Given the description of an element on the screen output the (x, y) to click on. 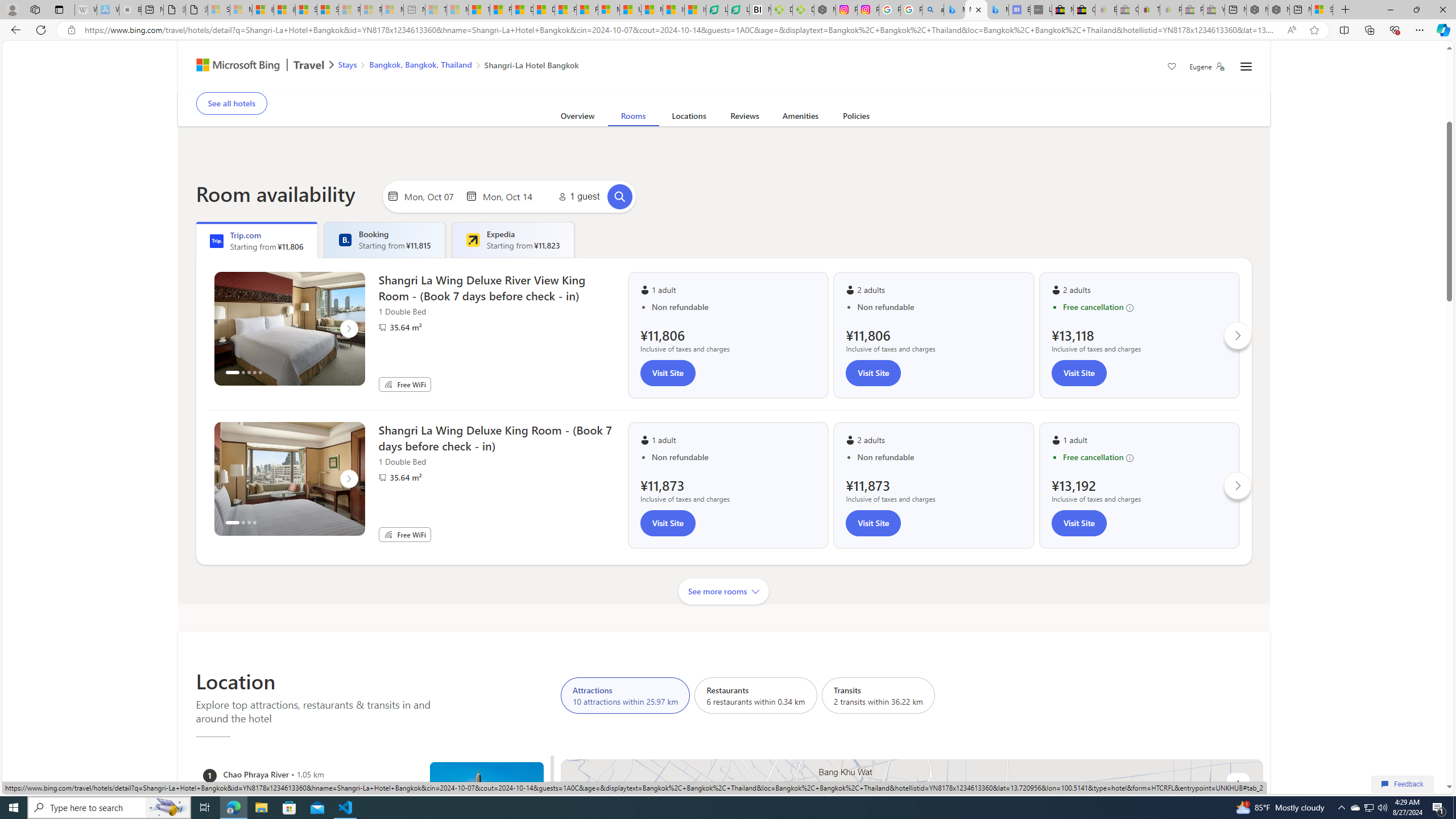
Top Stories - MSN - Sleeping (435, 9)
See more rooms (724, 591)
Travel (308, 65)
Attractions 10 attractions within 25.97 km (625, 695)
Conference rooms (665, 84)
See all hotels (231, 102)
Microsoft Services Agreement - Sleeping (241, 9)
